Given the description of an element on the screen output the (x, y) to click on. 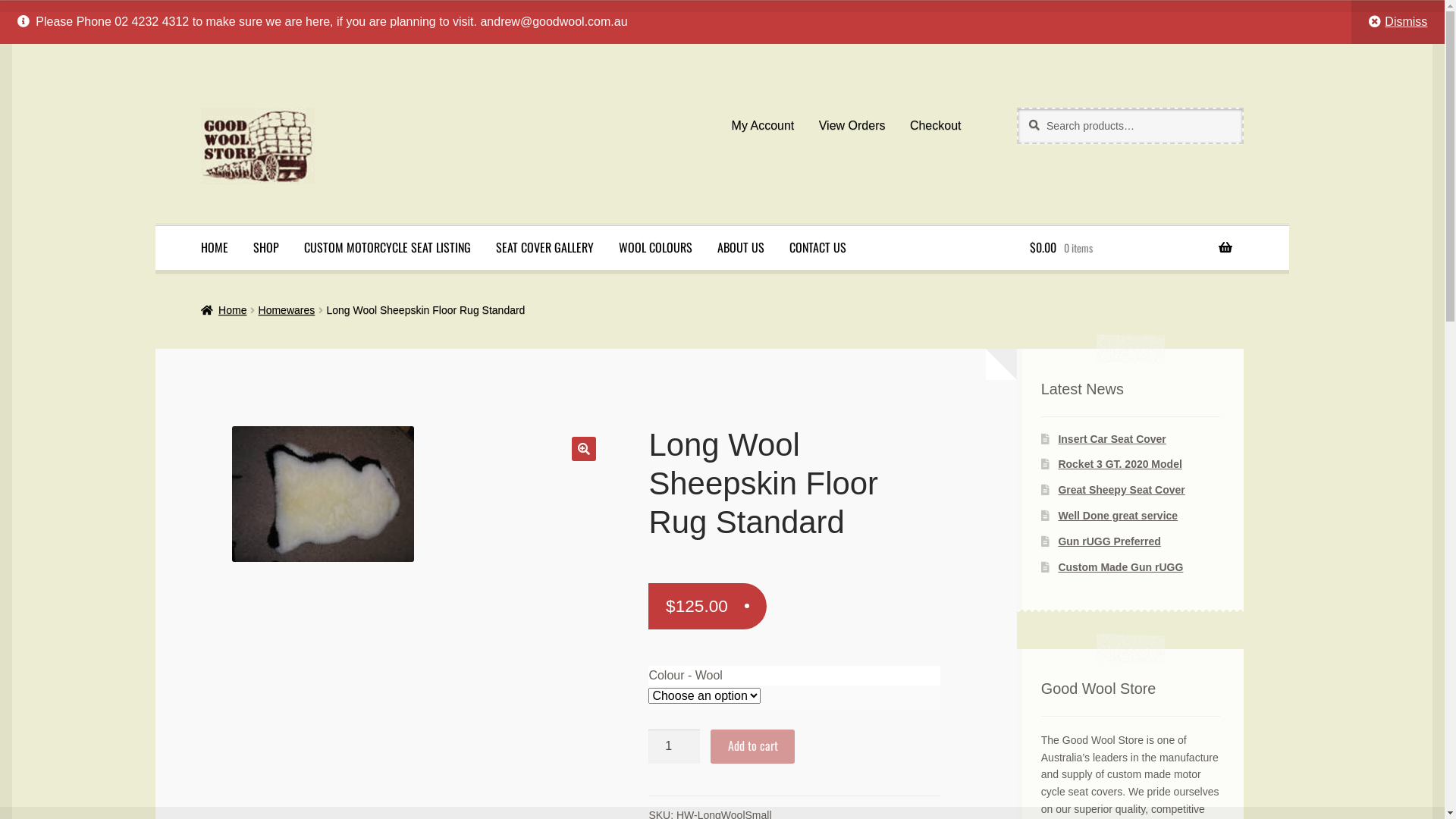
Dismiss Element type: text (1397, 21)
CUSTOM MOTORCYCLE SEAT LISTING Element type: text (387, 247)
Homewares Element type: text (286, 310)
ABOUT US Element type: text (740, 247)
Well Done great service Element type: text (1117, 515)
SHOP Element type: text (266, 247)
Rocket 3 GT. 2020 Model Element type: text (1119, 464)
SEAT COVER GALLERY Element type: text (544, 247)
CONTACT US Element type: text (817, 247)
homewares_longwool Element type: hover (323, 493)
Insert Car Seat Cover Element type: text (1111, 439)
Custom Made Gun rUGG Element type: text (1120, 567)
HOME Element type: text (214, 247)
Qty Element type: hover (673, 746)
Gun rUGG Preferred Element type: text (1108, 541)
Great Sheepy Seat Cover Element type: text (1120, 489)
View Orders Element type: text (852, 125)
Home Element type: text (223, 310)
My Account Element type: text (763, 125)
Checkout Element type: text (935, 125)
$0.00 0 items Element type: text (1130, 247)
Skip to navigation Element type: text (200, 106)
WOOL COLOURS Element type: text (655, 247)
Search Element type: text (1016, 106)
Add to cart Element type: text (752, 746)
